Given the description of an element on the screen output the (x, y) to click on. 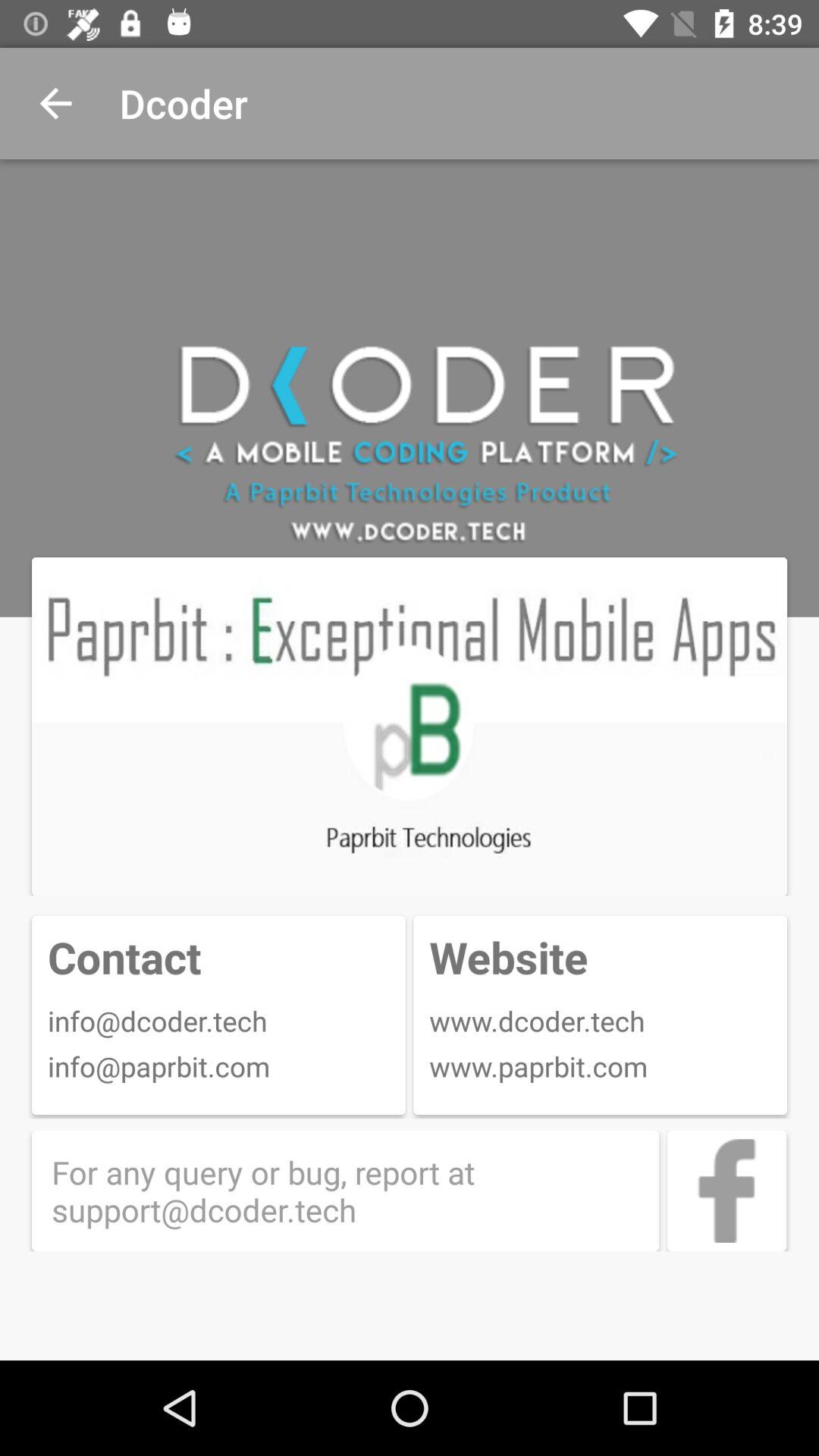
select icon to the right of for any query (726, 1190)
